Given the description of an element on the screen output the (x, y) to click on. 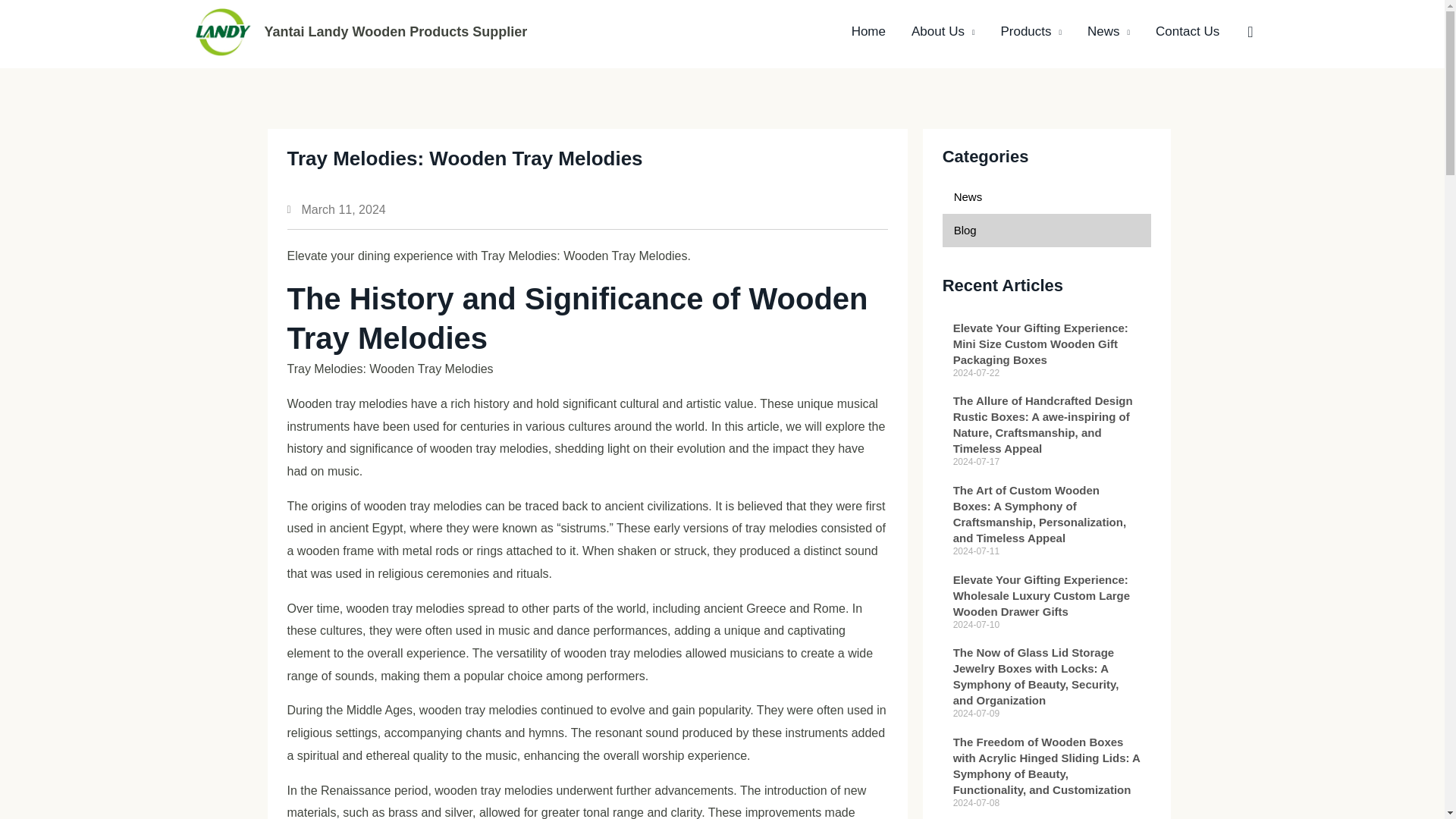
Yantai Landy Wooden Products Supplier (395, 31)
Contact Us (1186, 31)
About Us (942, 31)
Products (1030, 31)
Home (868, 31)
News (1108, 31)
